Given the description of an element on the screen output the (x, y) to click on. 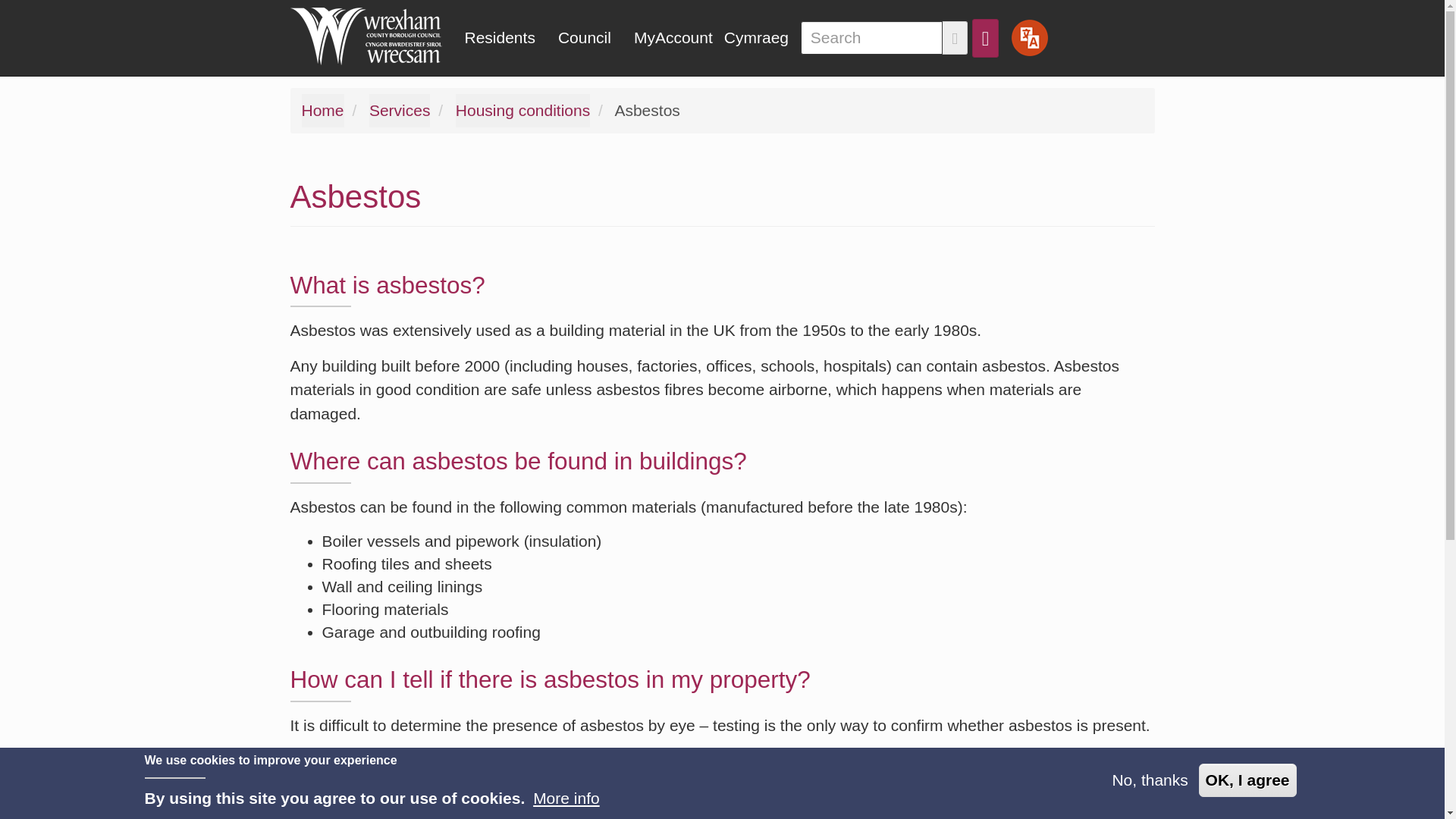
My Account (673, 38)
Services (399, 110)
Residents (499, 38)
Council (585, 38)
MyAccount (673, 38)
Residents (499, 38)
Housing conditions (522, 110)
Listen with the ReachDeck Toolbar (1029, 37)
Home (370, 36)
